Given the description of an element on the screen output the (x, y) to click on. 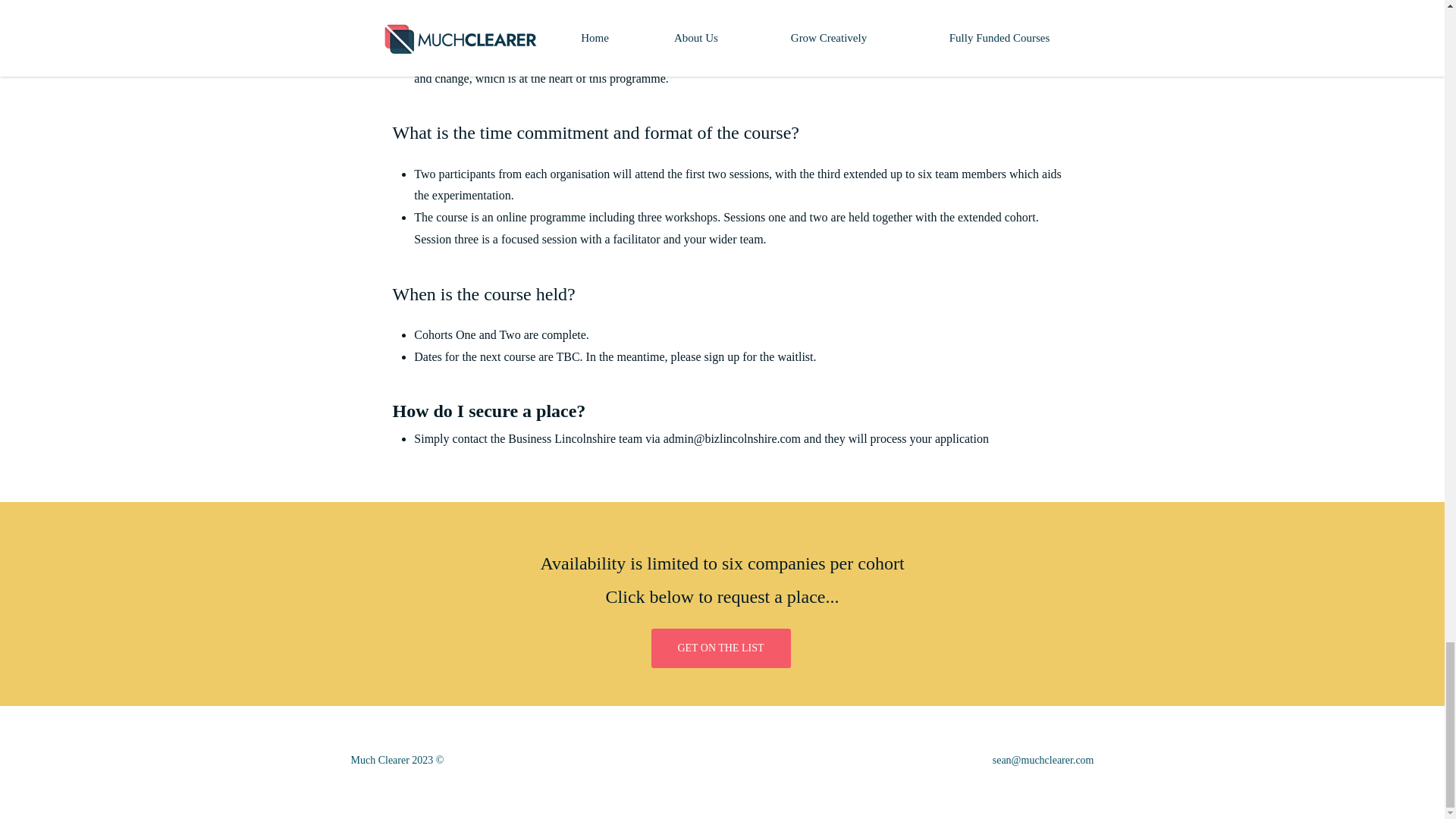
GET ON THE LIST (720, 648)
